Given the description of an element on the screen output the (x, y) to click on. 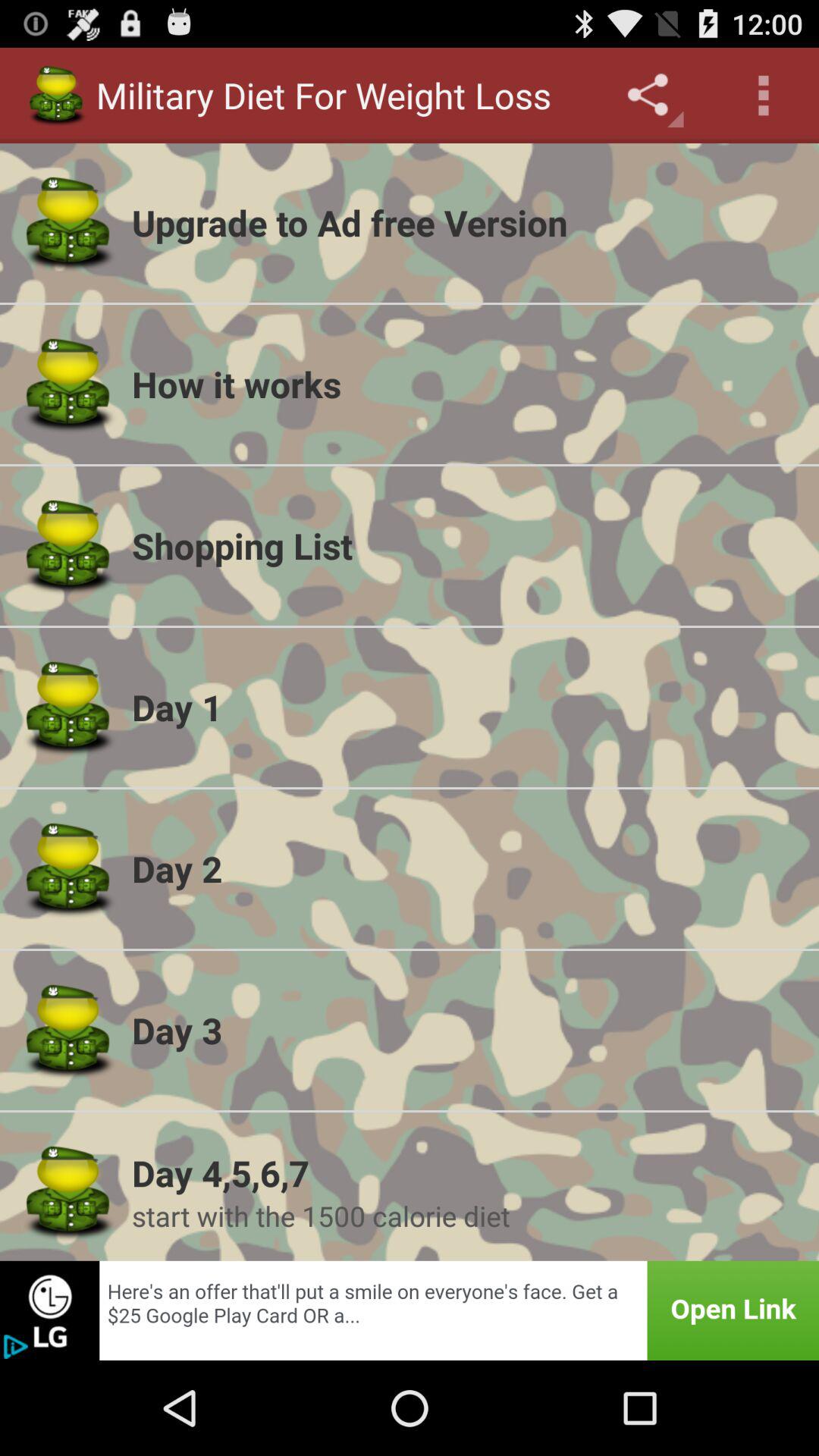
turn off the start with the app (465, 1215)
